Given the description of an element on the screen output the (x, y) to click on. 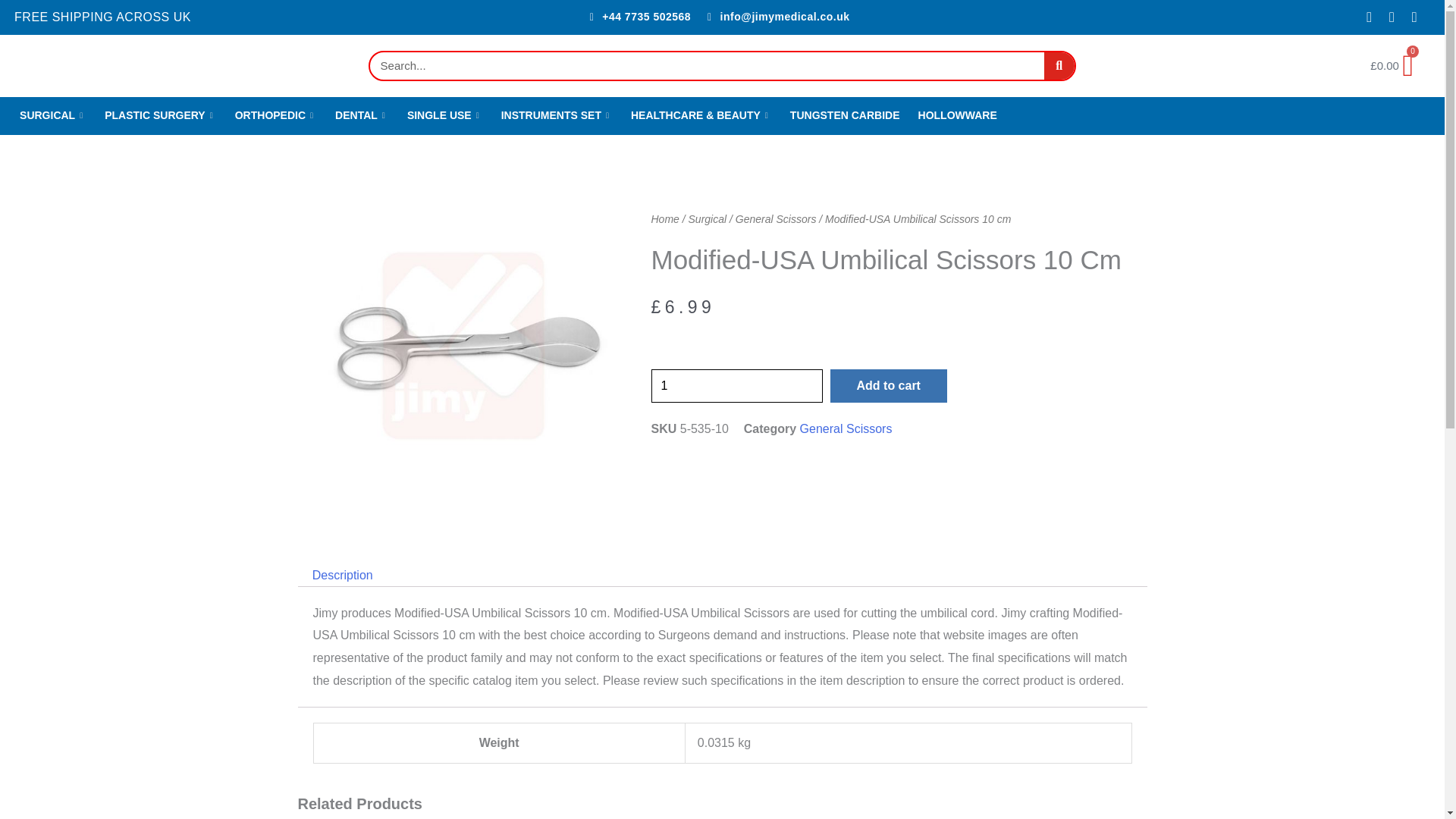
5-535-10 (462, 345)
1 (736, 385)
SURGICAL (53, 115)
Search (1058, 65)
